Given the description of an element on the screen output the (x, y) to click on. 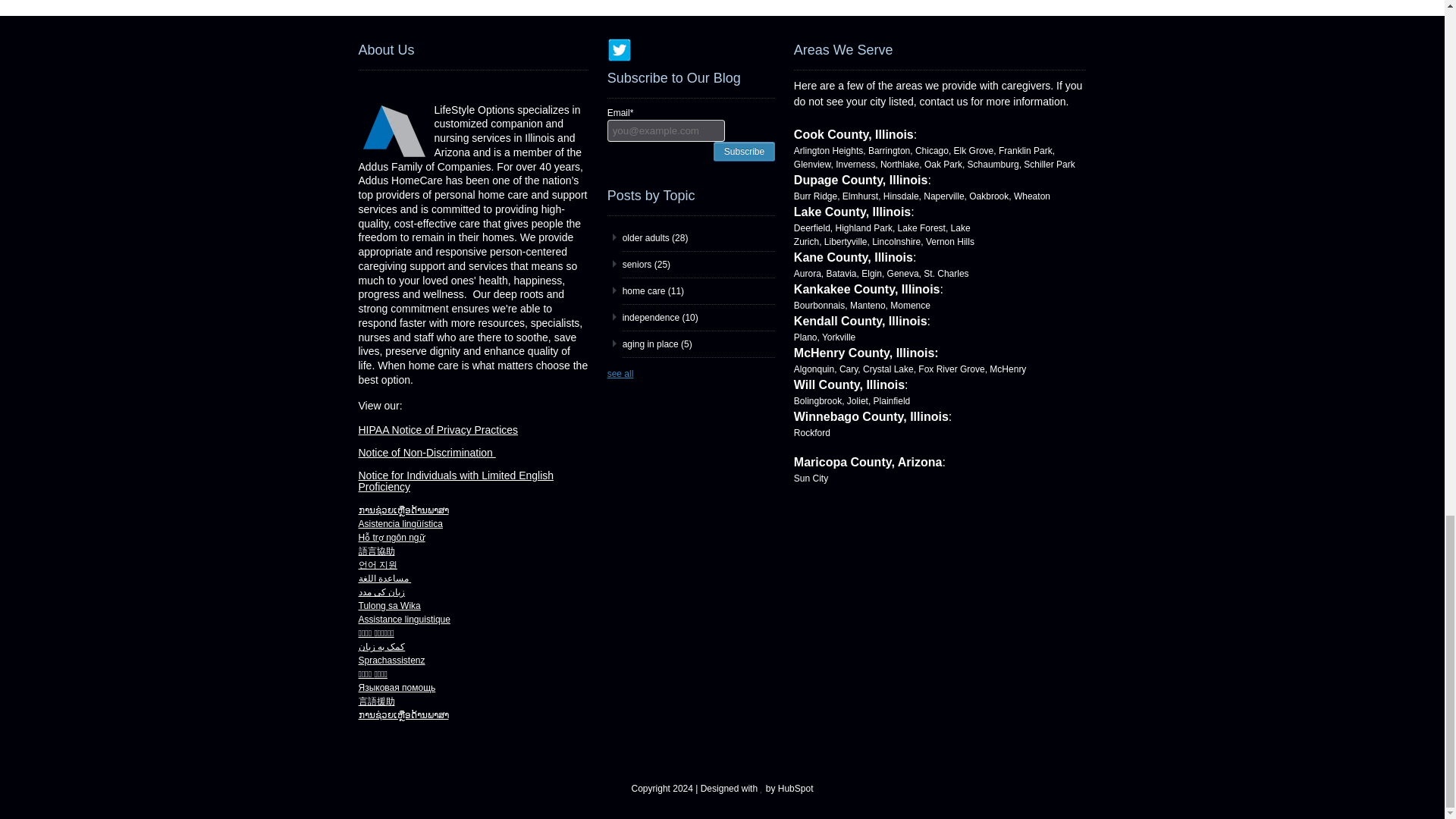
Follow us on Facebook (667, 49)
Follow us on Linkedin (691, 49)
Follow us on Twitter (619, 49)
Subscribe (743, 150)
